Given the description of an element on the screen output the (x, y) to click on. 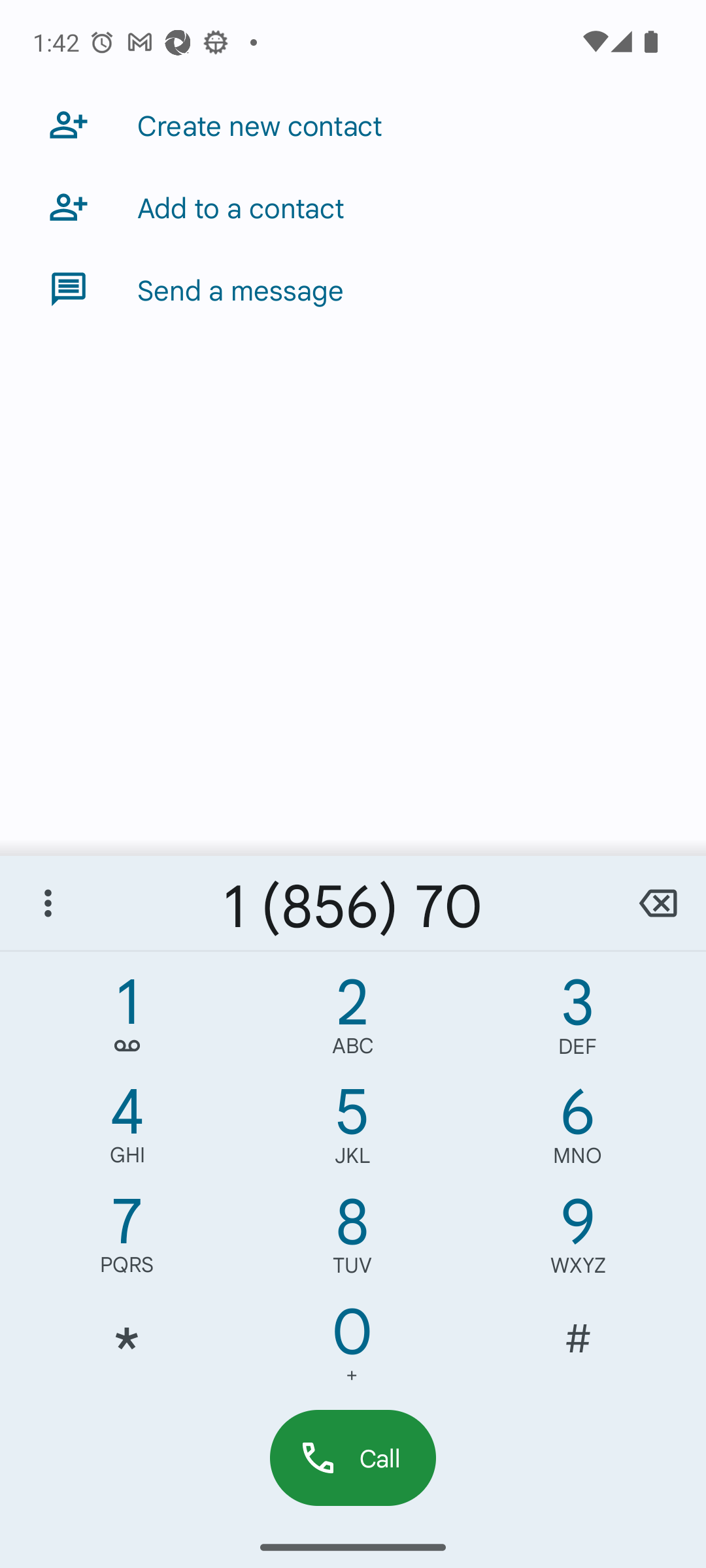
Create new contact (353, 124)
Add to a contact (353, 206)
Send a message (353, 288)
More options (48, 903)
1 (856) 70 (352, 903)
backspace (657, 903)
1, 1 (127, 1020)
2,ABC 2 ABC (352, 1020)
3,DEF 3 DEF (578, 1020)
4,GHI 4 GHI (127, 1130)
5,JKL 5 JKL (352, 1130)
6,MNO 6 MNO (578, 1130)
7,PQRS 7 PQRS (127, 1240)
8,TUV 8 TUV (352, 1240)
9,WXYZ 9 WXYZ (578, 1240)
* (127, 1349)
0 0 + (352, 1349)
# (578, 1349)
Call dial (352, 1457)
